Given the description of an element on the screen output the (x, y) to click on. 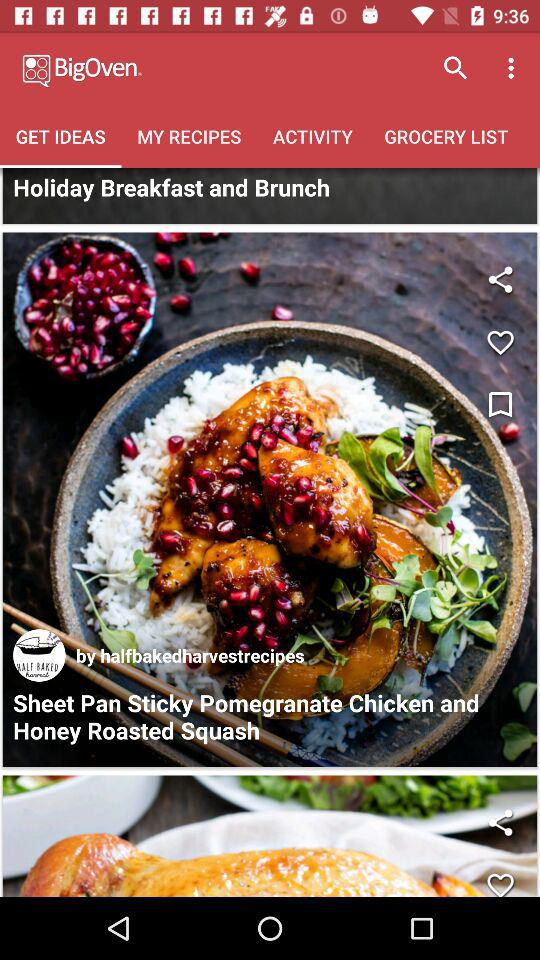
like the page (500, 342)
